Given the description of an element on the screen output the (x, y) to click on. 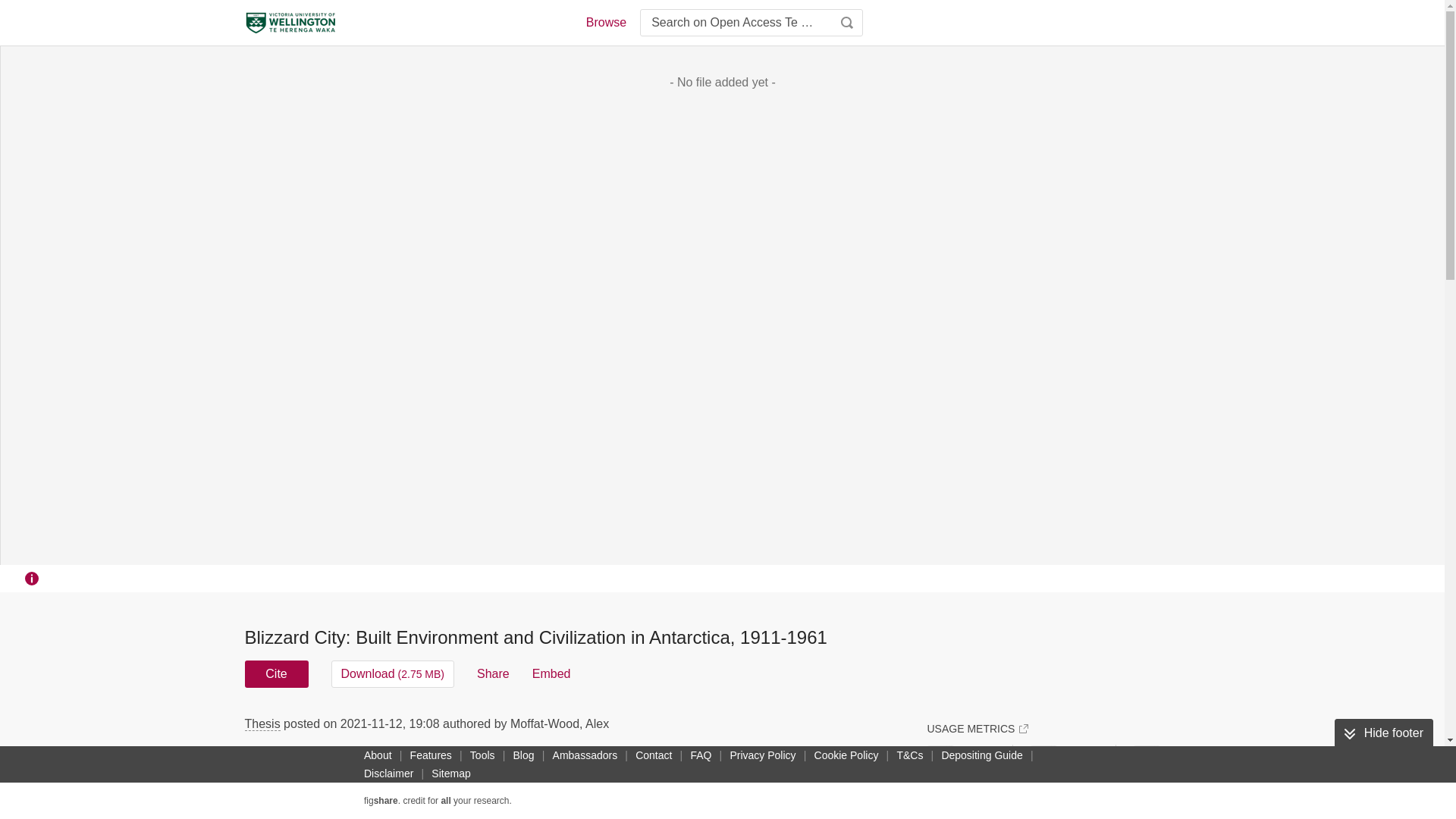
About (377, 755)
Contact (653, 755)
Share (493, 673)
Privacy Policy (762, 755)
Blog (523, 755)
Embed (551, 673)
Tools (482, 755)
FAQ (700, 755)
Cite (275, 673)
USAGE METRICS (976, 728)
Features (431, 755)
Ambassadors (585, 755)
Browse (605, 22)
Hide footer (1383, 733)
